Given the description of an element on the screen output the (x, y) to click on. 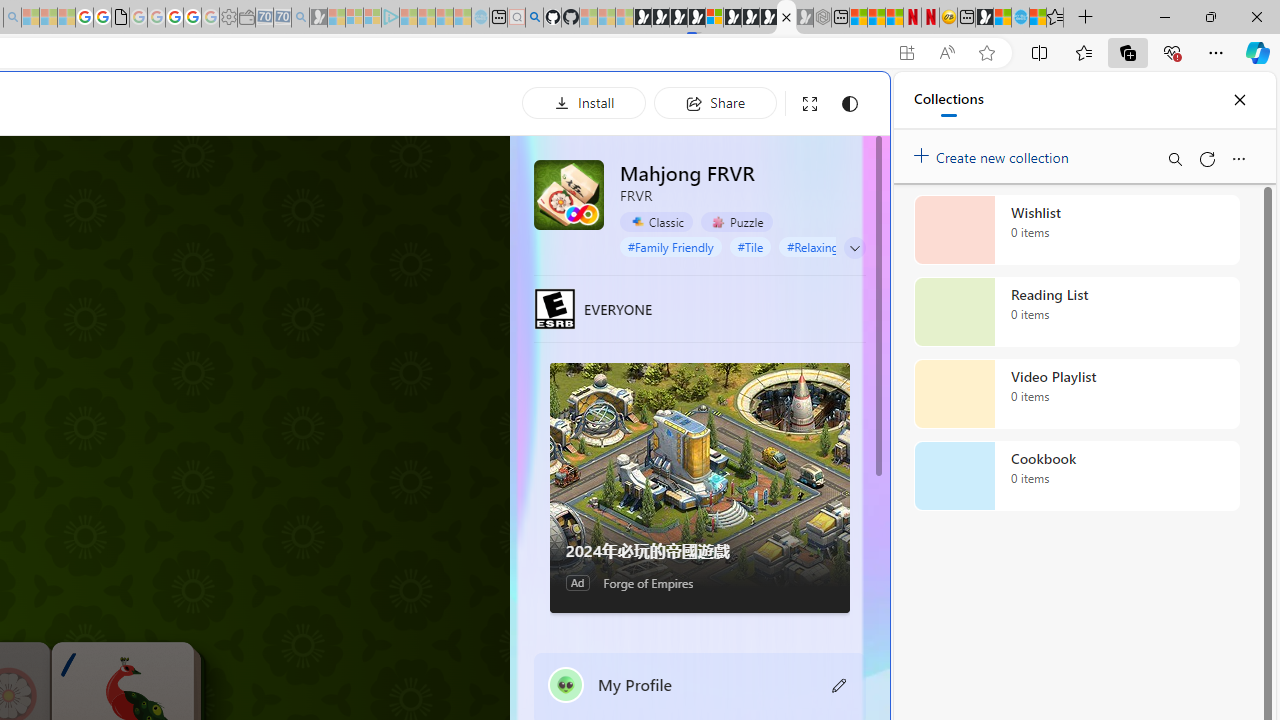
Search or enter web address (343, 191)
Class: button edit-icon (839, 684)
#Tile (750, 246)
Settings - Sleeping (228, 17)
Mahjong FRVR (568, 194)
github - Search (534, 17)
